Given the description of an element on the screen output the (x, y) to click on. 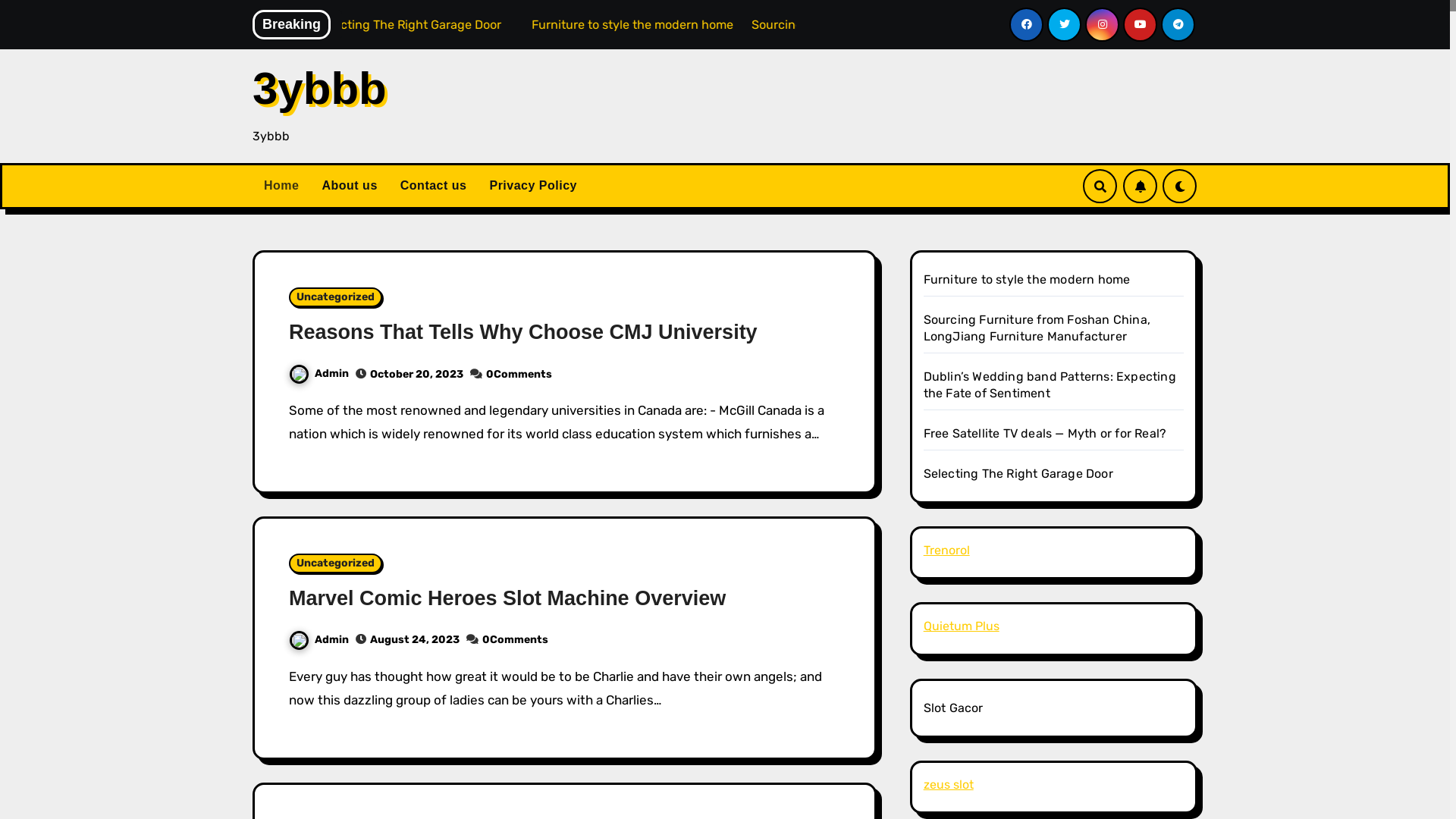
October 20, 2023 Element type: text (416, 373)
0Comments Element type: text (515, 639)
Marvel Comic Heroes Slot Machine Overview Element type: text (506, 597)
Selecting The Right Garage Door Element type: text (1018, 473)
Quietum Plus Element type: text (961, 625)
Admin Element type: text (318, 373)
Privacy Policy Element type: text (532, 185)
Uncategorized Element type: text (335, 563)
Slot Gacor Element type: text (953, 707)
Selecting The Right Garage Door Element type: text (664, 23)
Admin Element type: text (318, 639)
Contact us Element type: text (433, 185)
Furniture to style the modern home Element type: text (888, 23)
Uncategorized Element type: text (335, 297)
August 24, 2023 Element type: text (414, 639)
3ybbb Element type: text (319, 87)
Reasons That Tells Why Choose CMJ University Element type: text (522, 331)
zeus slot Element type: text (948, 784)
Furniture to style the modern home Element type: text (1026, 279)
About us Element type: text (349, 185)
Trenorol Element type: text (946, 549)
Home Element type: text (281, 185)
0Comments Element type: text (519, 373)
